Given the description of an element on the screen output the (x, y) to click on. 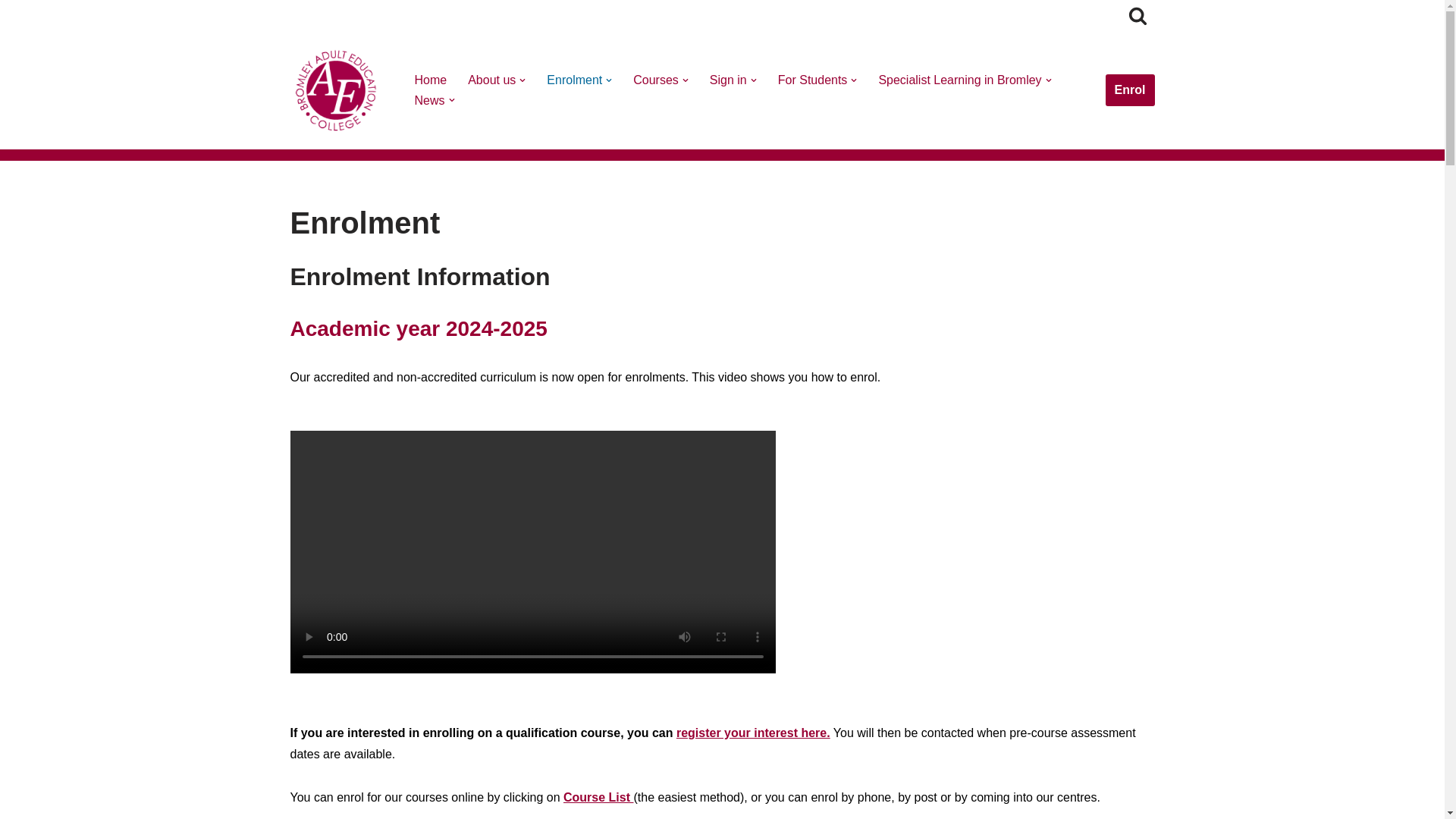
Skip to content (11, 31)
About us (491, 79)
Enrolment (574, 79)
Home (429, 79)
Sign in (728, 79)
Courses (655, 79)
